Given the description of an element on the screen output the (x, y) to click on. 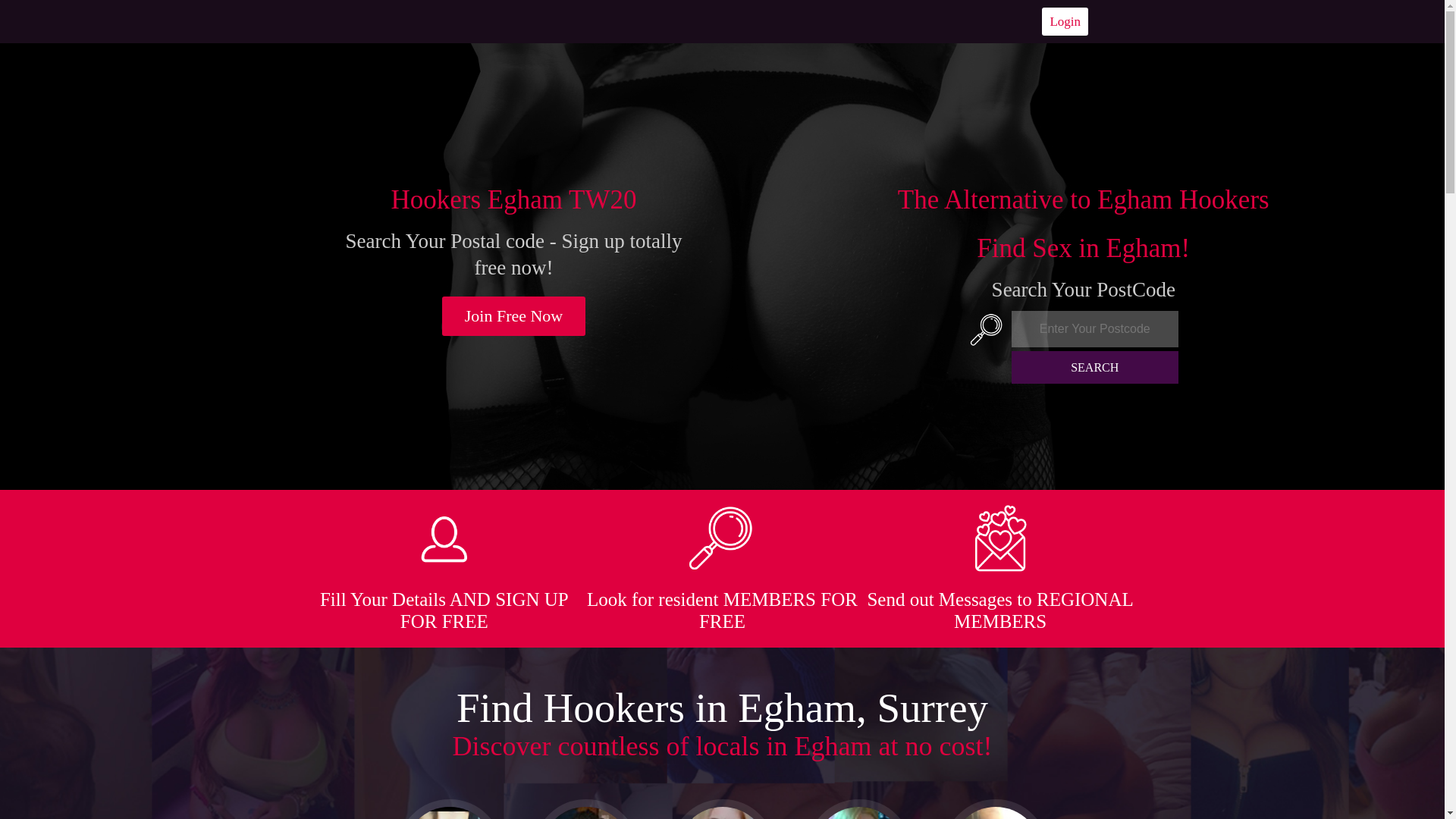
Login (1064, 21)
Join (514, 315)
SEARCH (1094, 367)
Join Free Now (514, 315)
Login (1064, 21)
